Given the description of an element on the screen output the (x, y) to click on. 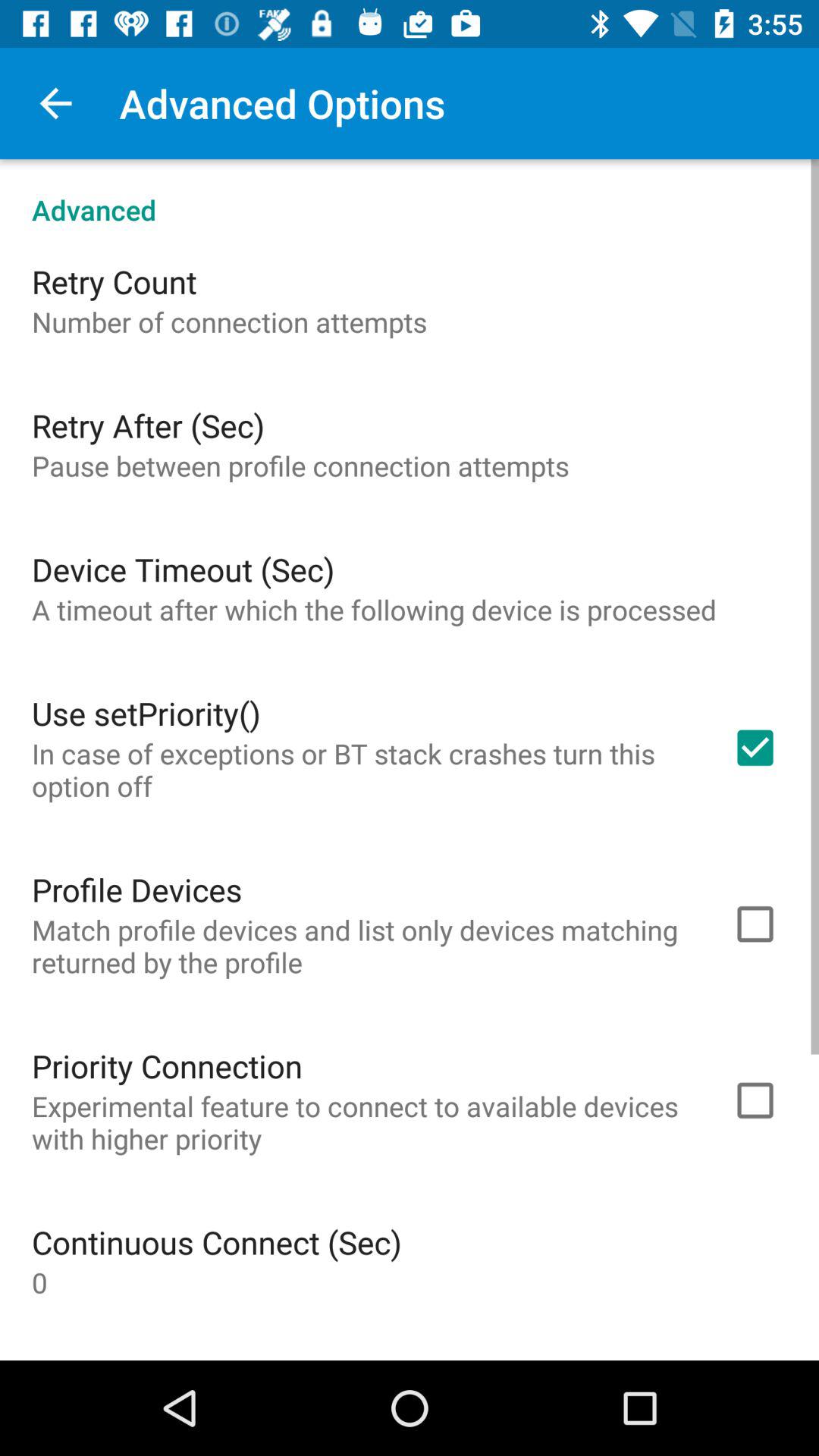
turn on icon above advanced (55, 103)
